Given the description of an element on the screen output the (x, y) to click on. 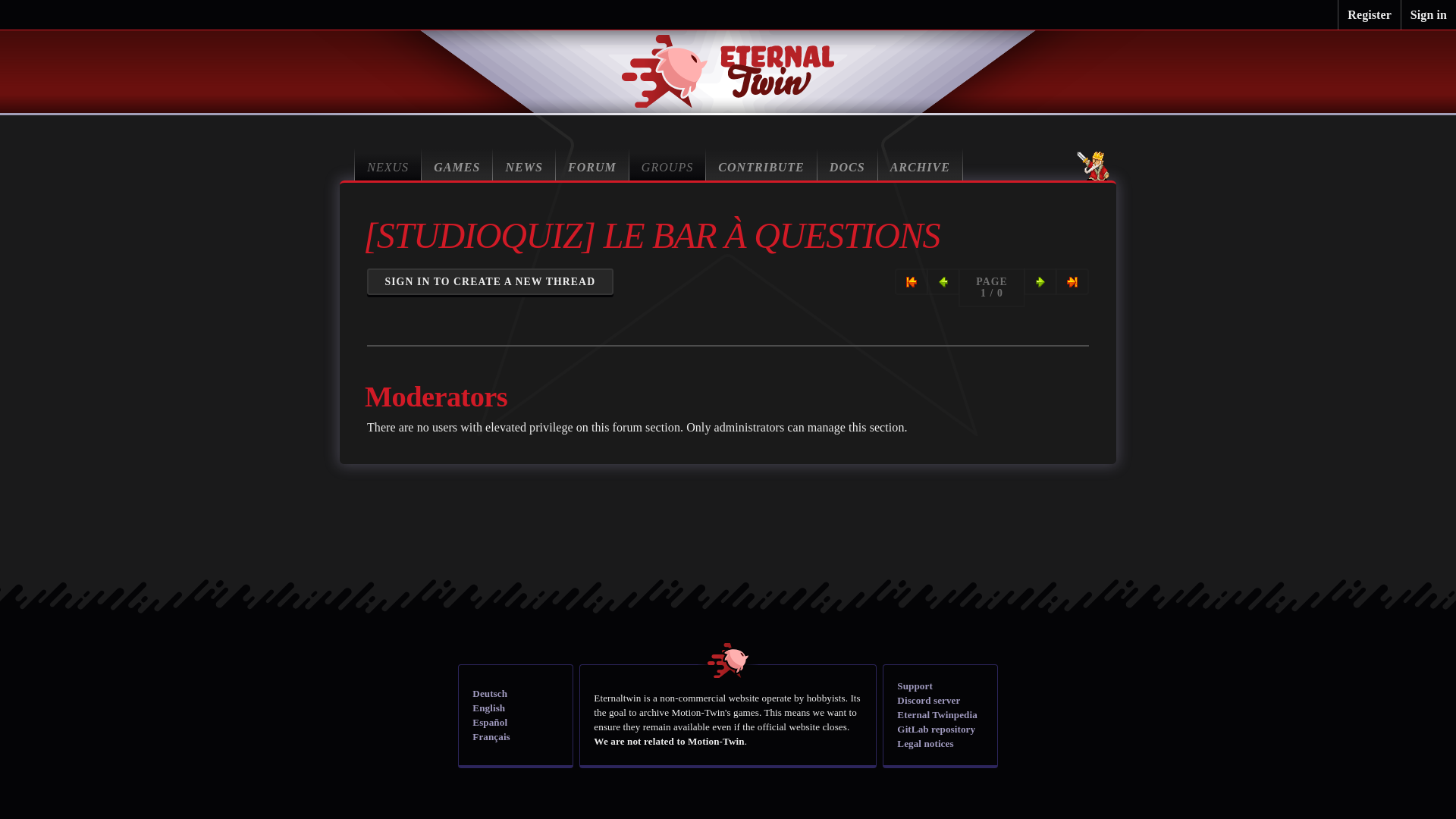
Eternaltwin (727, 71)
English (488, 707)
NEWS (524, 164)
Support (913, 685)
FORUM (592, 164)
Deutsch (488, 693)
SIGN IN TO CREATE A NEW THREAD (489, 281)
CONTRIBUTE (761, 164)
NEXUS (387, 164)
GitLab repository (935, 728)
